Given the description of an element on the screen output the (x, y) to click on. 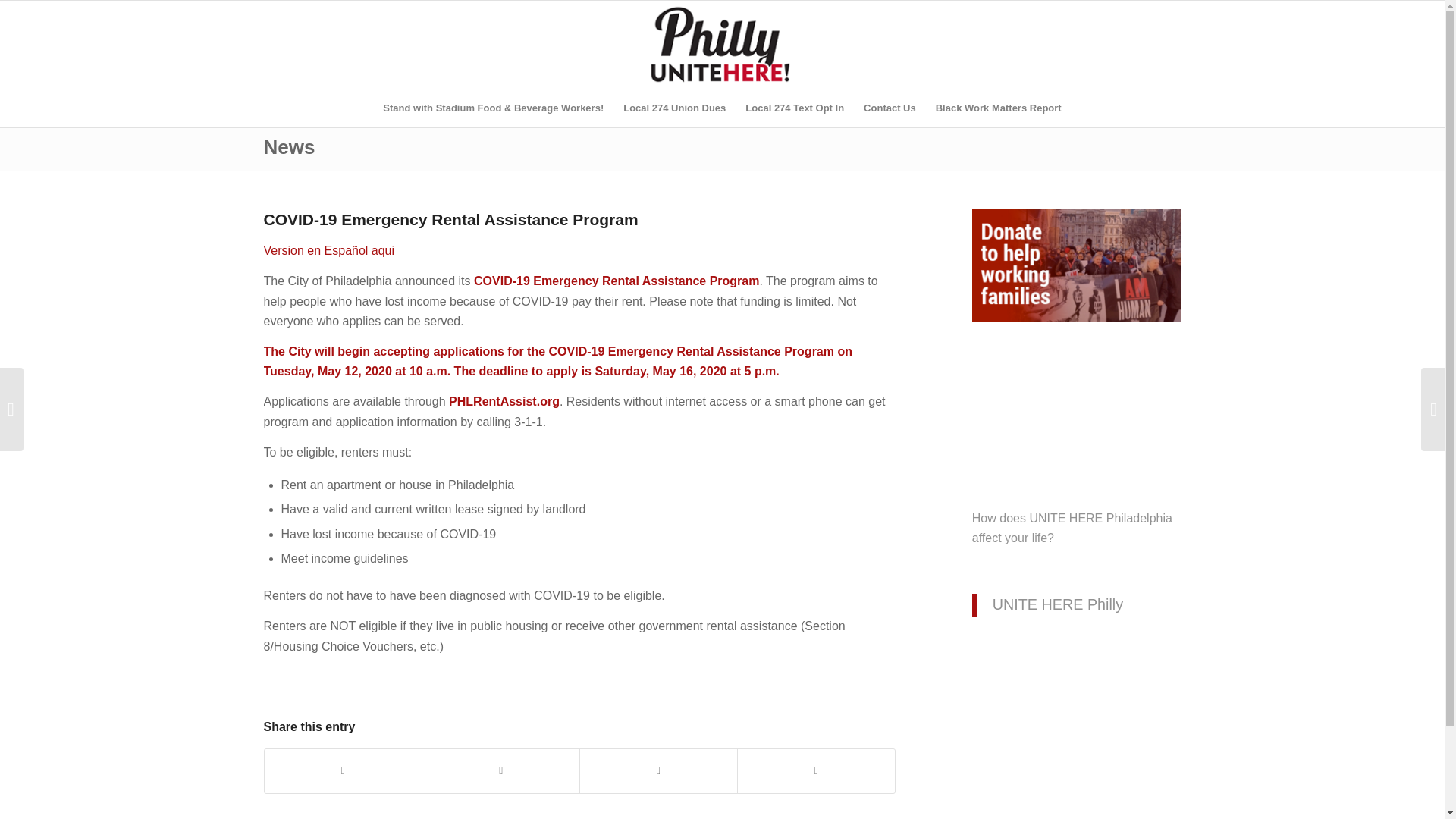
philly-website (721, 44)
Black Work Matters Report (998, 108)
PHLRentAssist.org (503, 400)
News (289, 146)
Local 274 Union Dues (673, 108)
Contact Us (889, 108)
YouTube video player (1076, 437)
COVID-19 Emergency Rental Assistance Program (616, 280)
Permanent Link: News (289, 146)
UNITE HERE Philly (1057, 604)
